Given the description of an element on the screen output the (x, y) to click on. 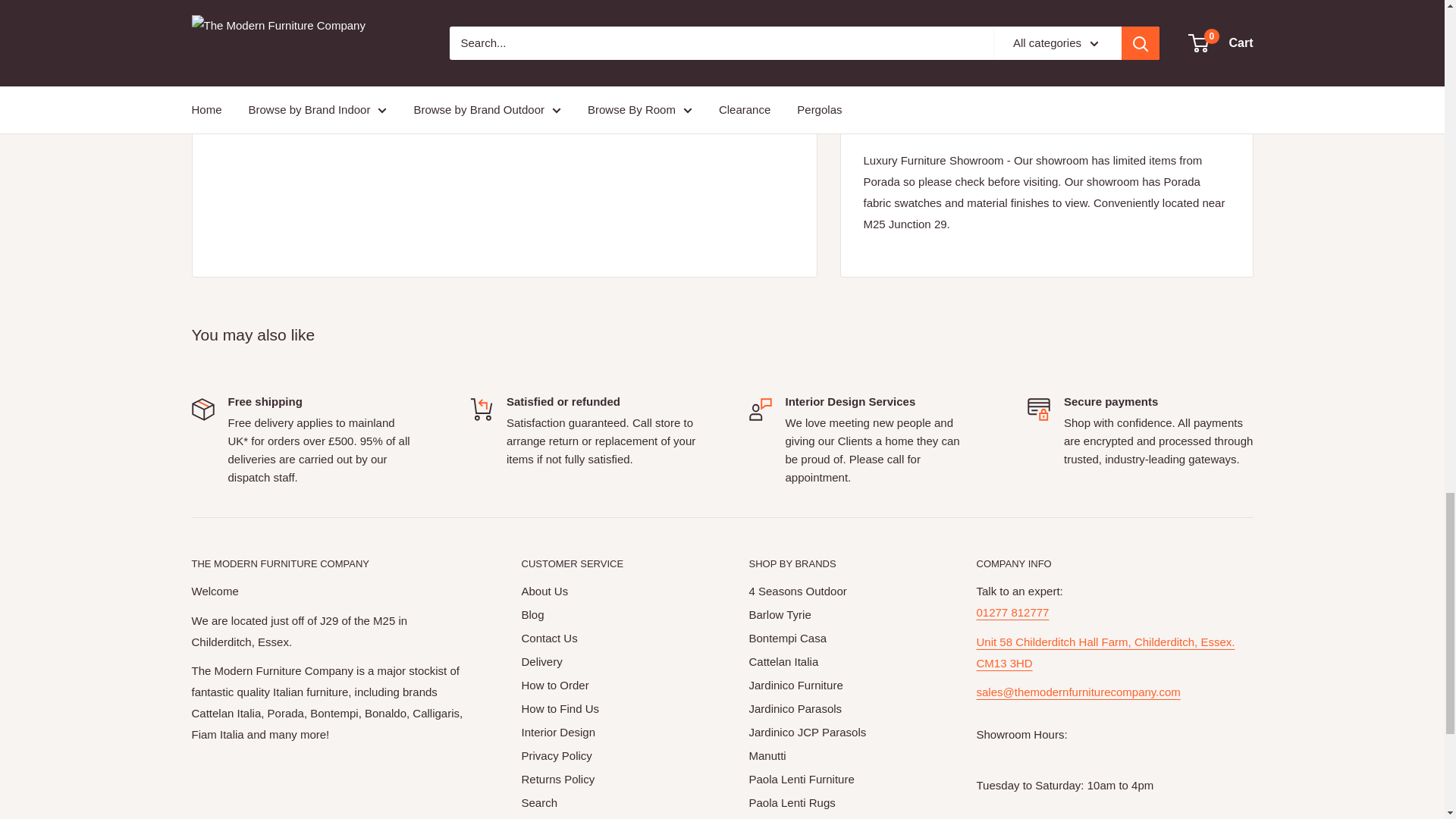
Location Map (1105, 652)
Email Us (1078, 702)
